Given the description of an element on the screen output the (x, y) to click on. 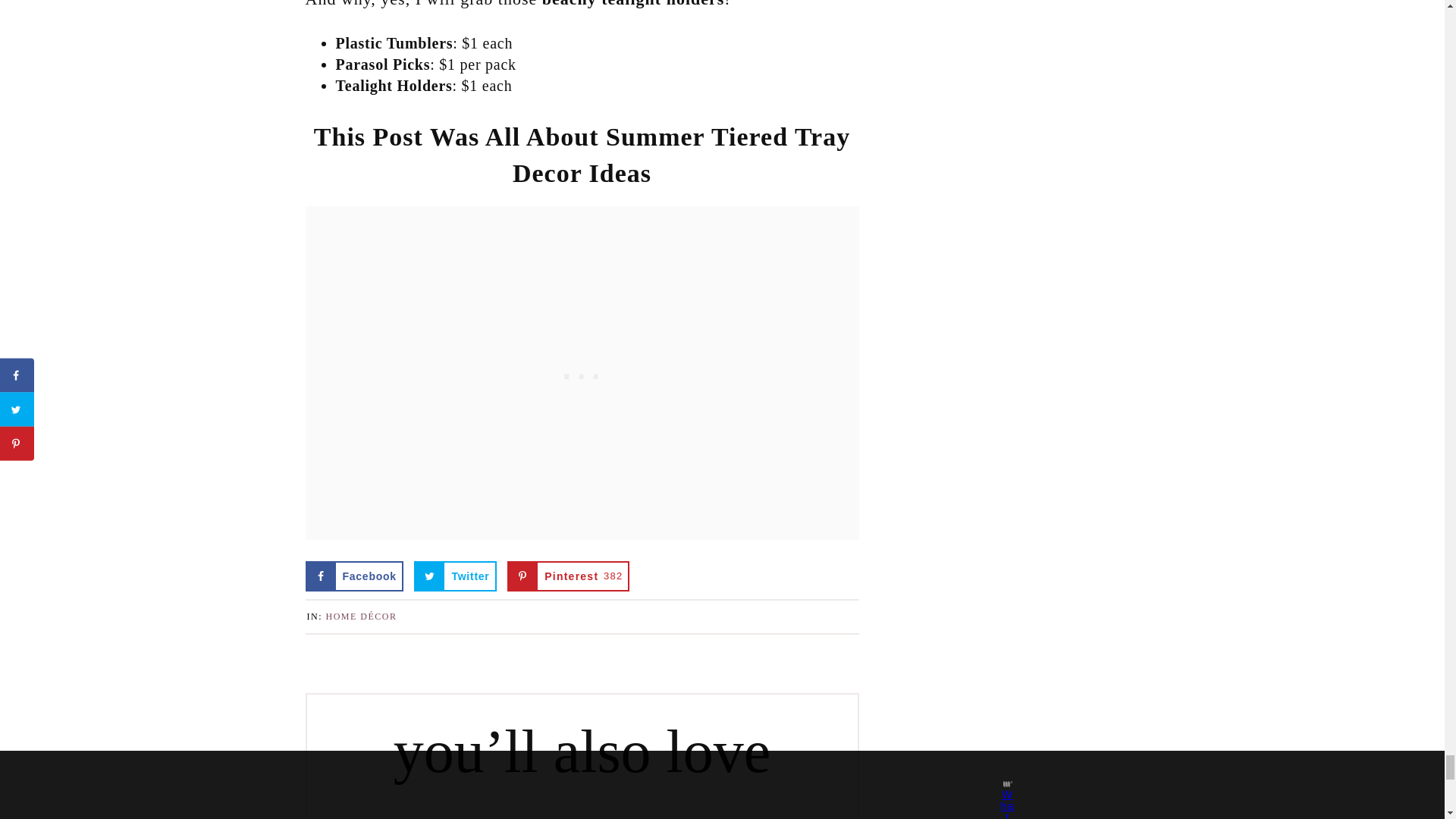
Share on Twitter (454, 576)
Share on Facebook (353, 576)
